Given the description of an element on the screen output the (x, y) to click on. 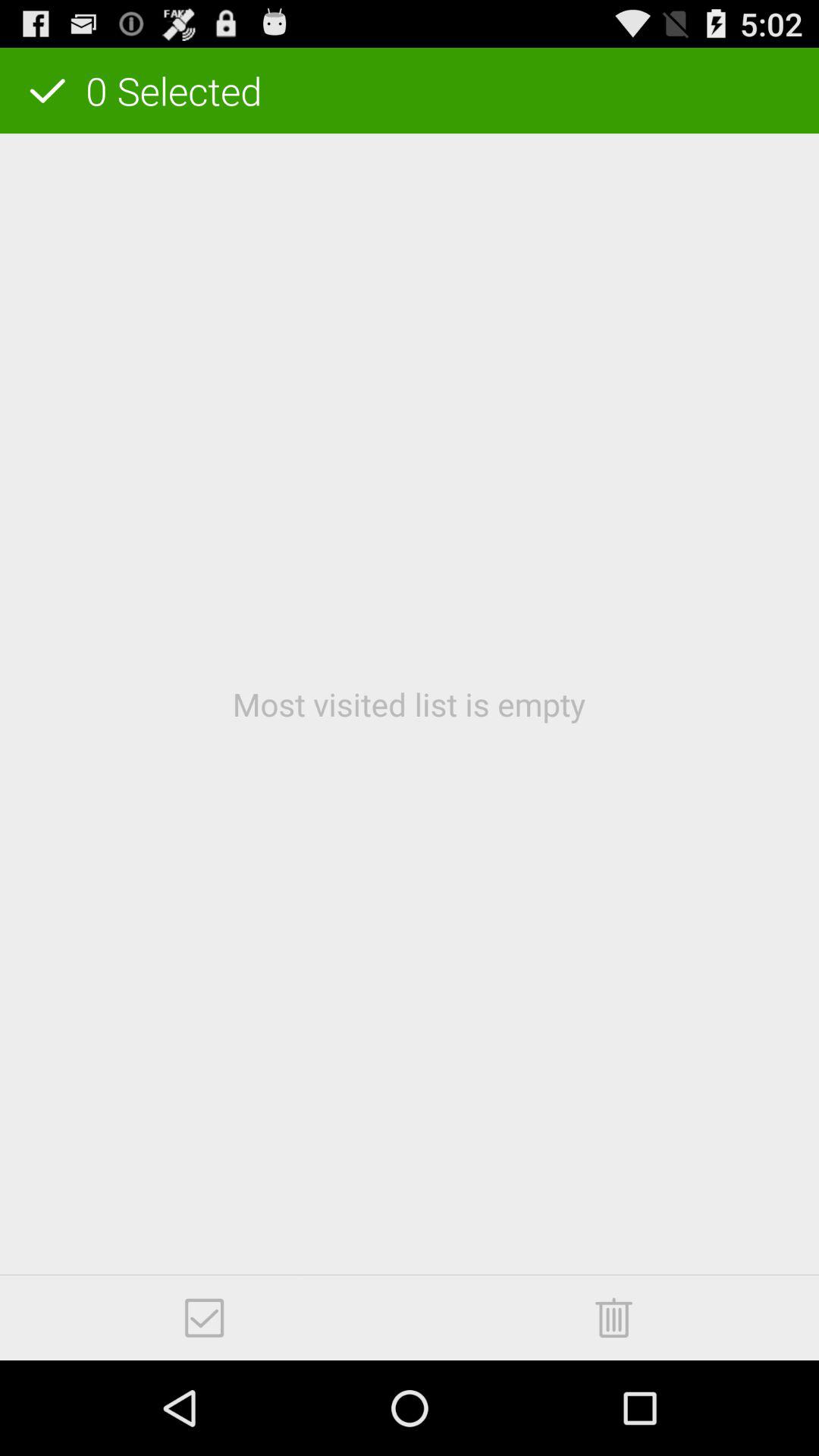
tap item at the bottom right corner (613, 1317)
